Given the description of an element on the screen output the (x, y) to click on. 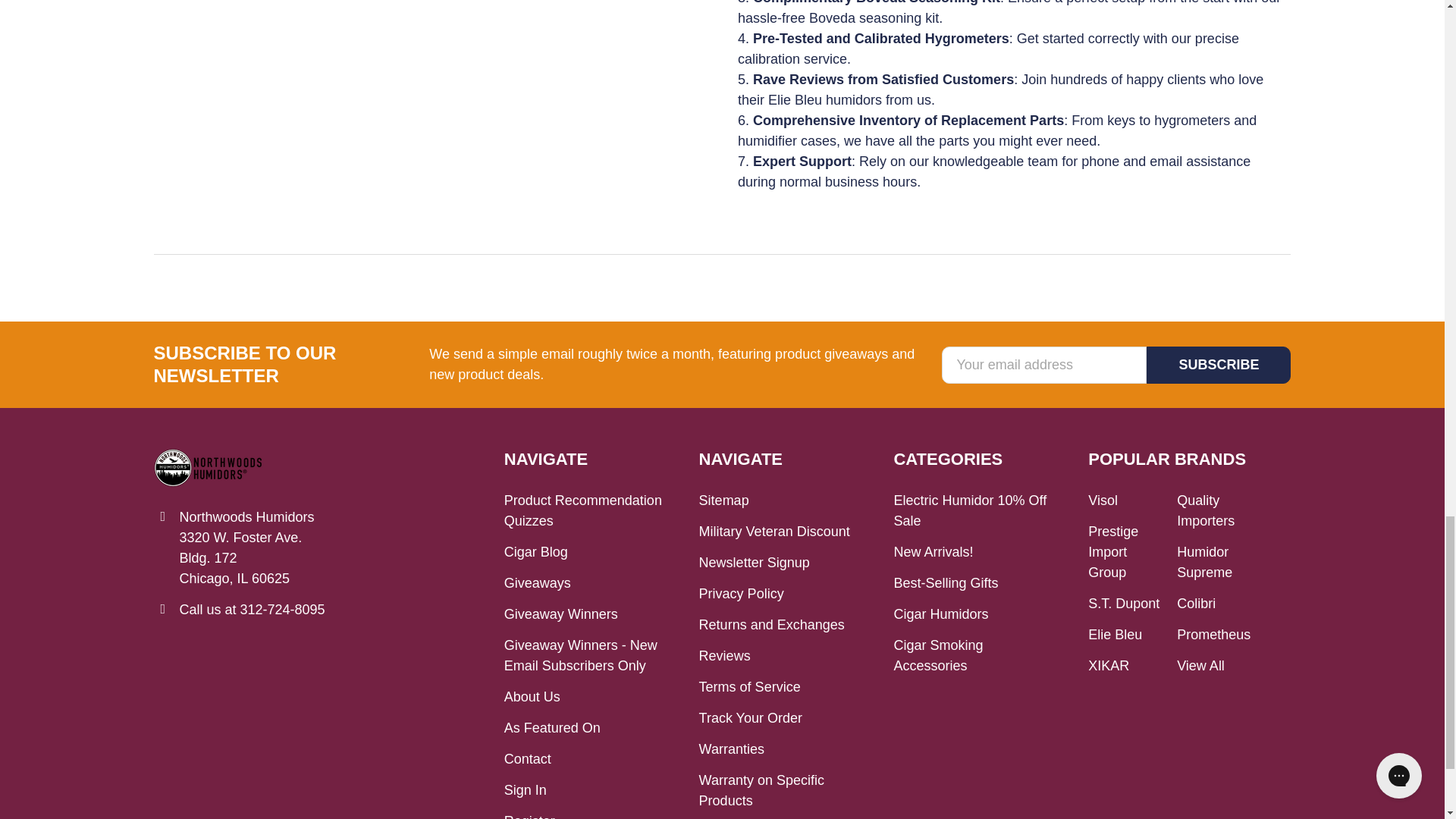
Subscribe (1218, 365)
